Given the description of an element on the screen output the (x, y) to click on. 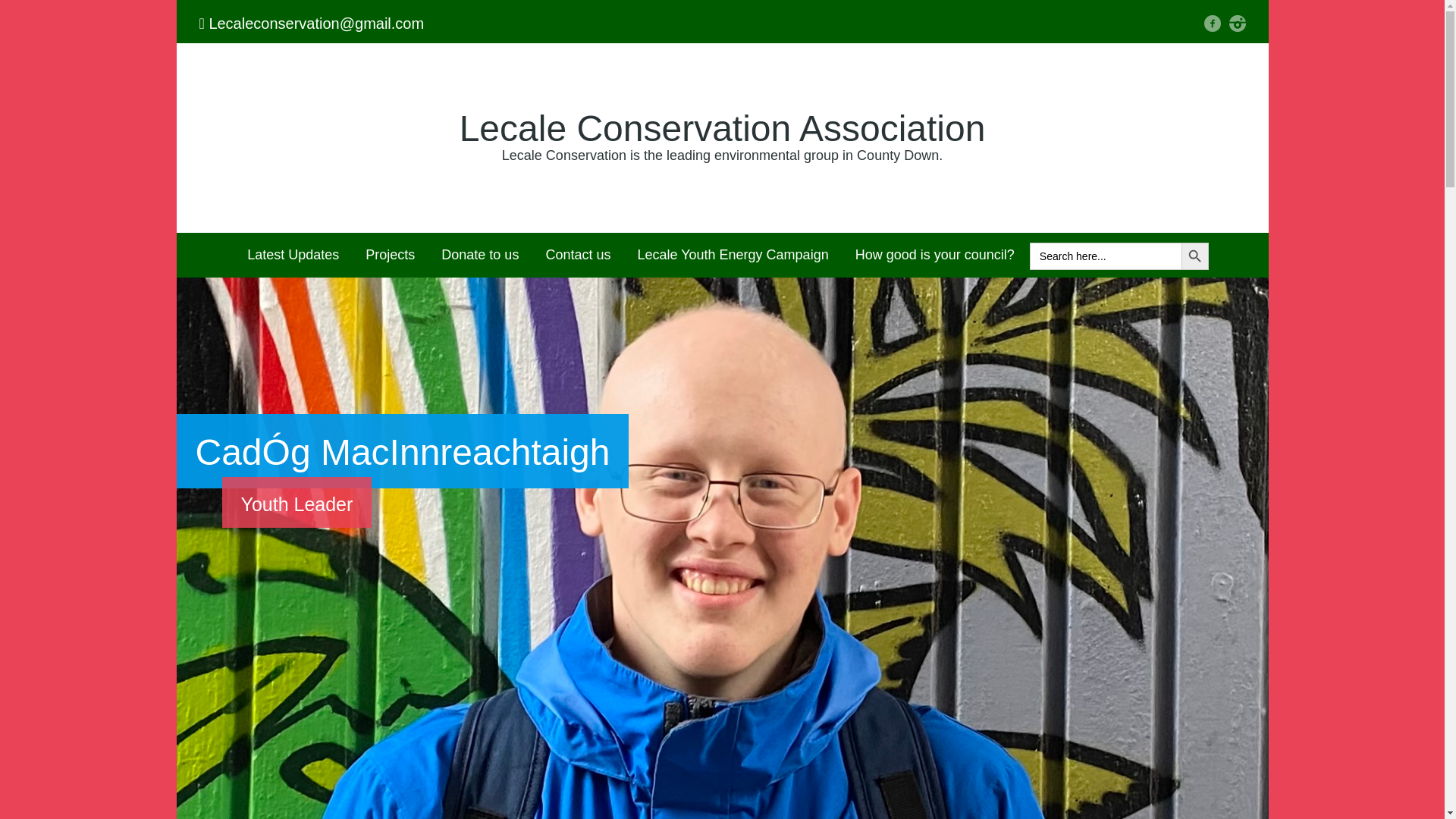
Contact us (577, 254)
facebook (1212, 23)
Latest Updates (292, 254)
How good is your council? (935, 254)
Lecale Conservation Association (722, 128)
Search Button (1194, 256)
instagram (1236, 23)
Lecale Youth Energy Campaign (733, 254)
Projects (389, 254)
Go to Home (722, 128)
